Given the description of an element on the screen output the (x, y) to click on. 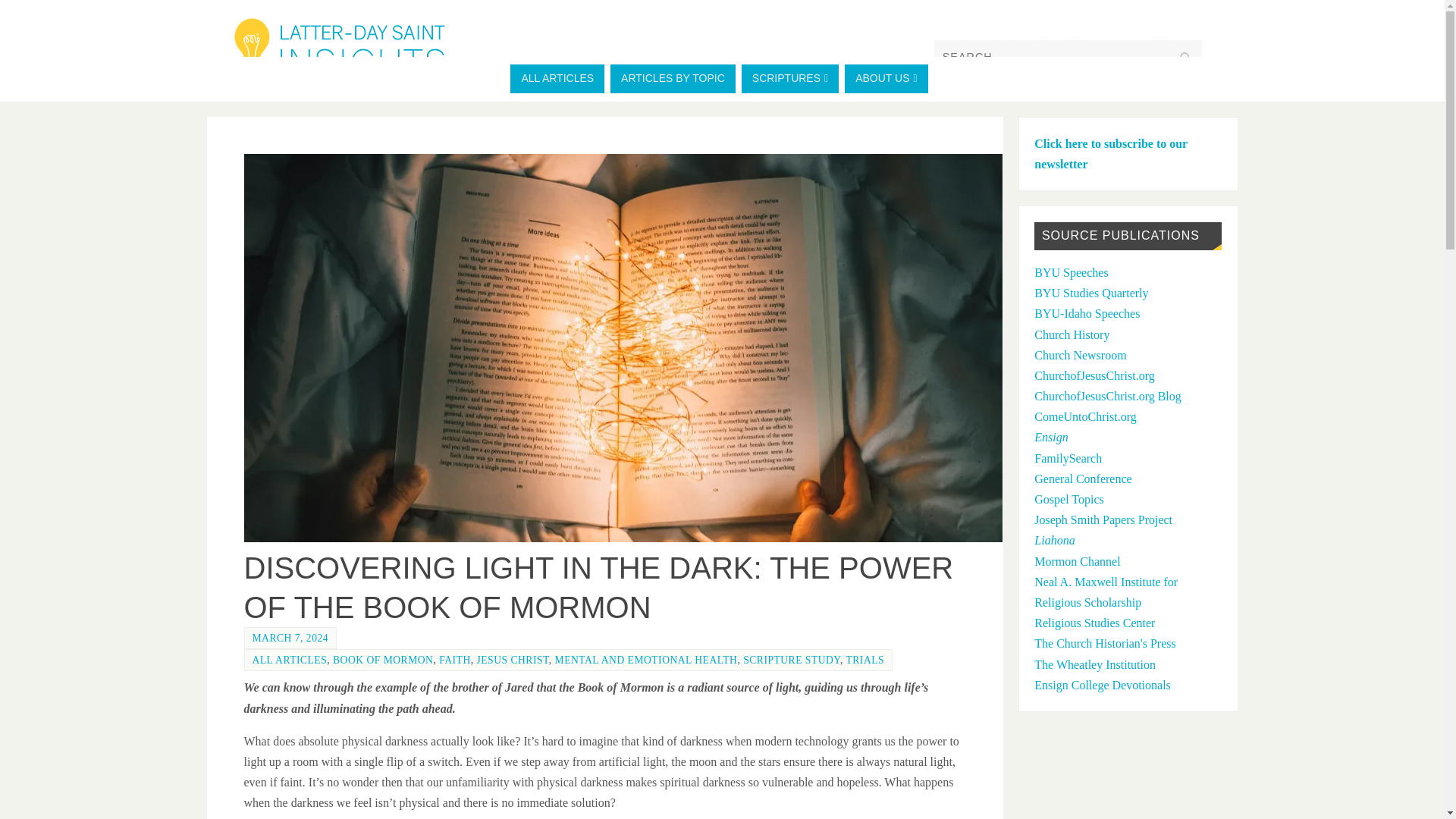
ARTICLES BY TOPIC (672, 78)
SCRIPTURE STUDY (791, 659)
FAITH (454, 659)
JESUS CHRIST (512, 659)
MENTAL AND EMOTIONAL HEALTH (646, 659)
ALL ARTICLES (557, 78)
ALL ARTICLES (288, 659)
SCRIPTURES (789, 78)
BOOK OF MORMON (382, 659)
Latter-day Saint Insights (721, 45)
MARCH 7, 2024 (290, 637)
ABOUT US (885, 78)
TRIALS (865, 659)
Latter-day Saint Insights (338, 51)
